Given the description of an element on the screen output the (x, y) to click on. 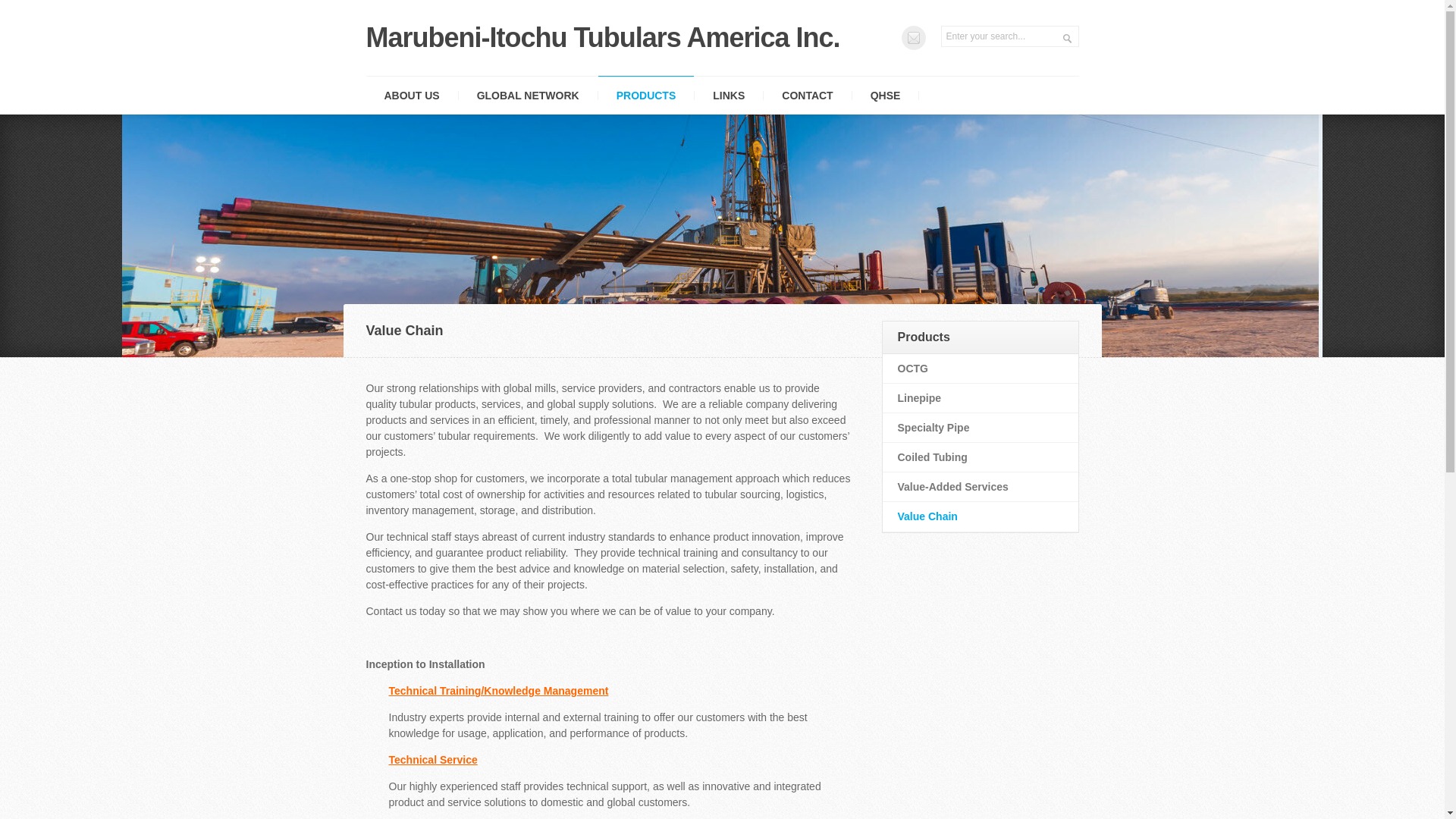
CONTACT (806, 95)
GLOBAL NETWORK (527, 95)
QHSE (884, 95)
PRODUCTS (646, 95)
Products (980, 337)
ABOUT US (411, 95)
LINKS (728, 95)
Enter your search... (1009, 35)
Marubeni-Itochu Tubulars America Inc. (602, 37)
